Given the description of an element on the screen output the (x, y) to click on. 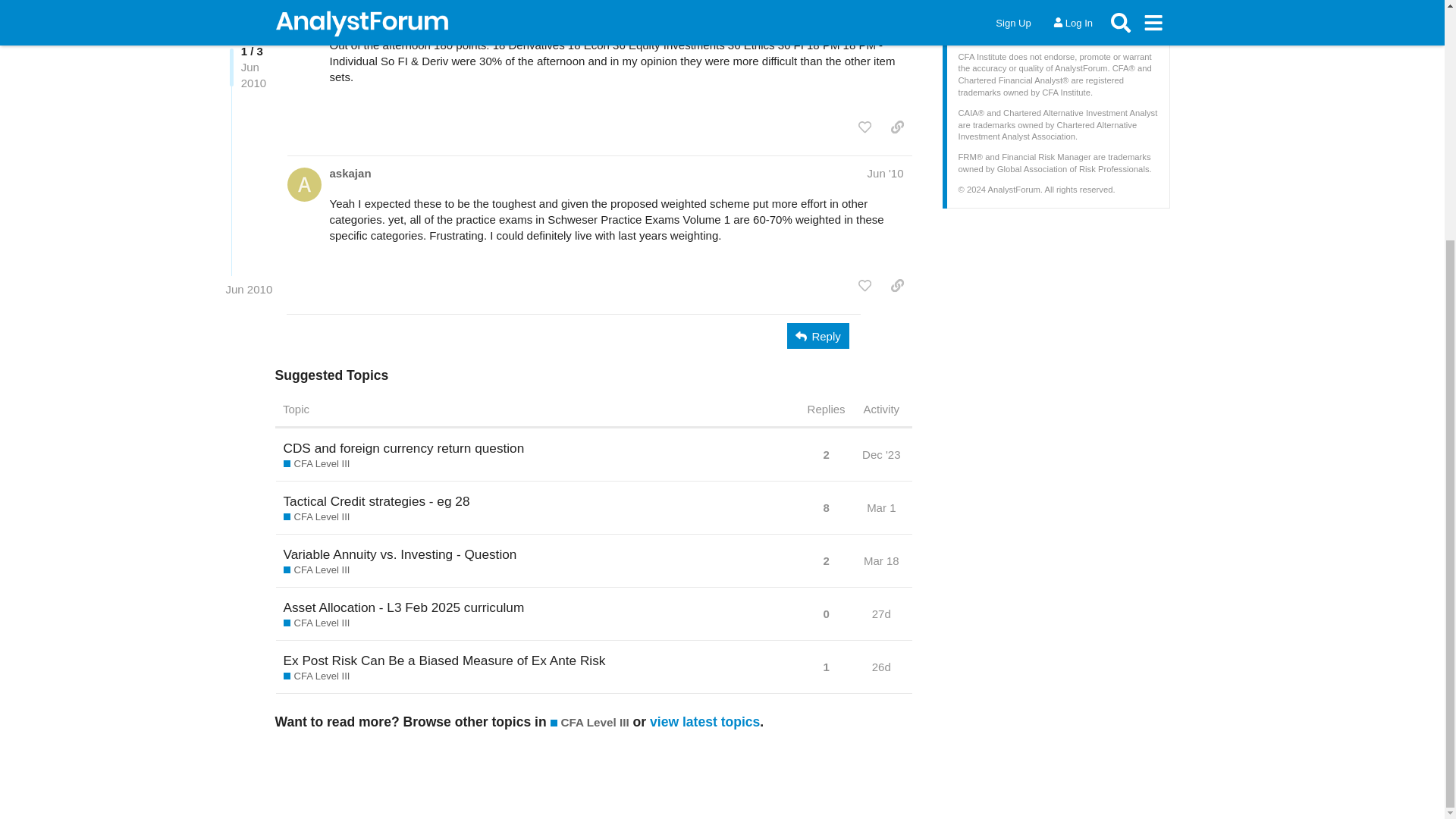
CFA Level III (316, 463)
Dec '23 (881, 454)
CDS and foreign currency return question (403, 447)
Jun 2010 (249, 54)
Jun '10 (885, 14)
askajan (350, 172)
Jun 2010 (249, 54)
Reply (817, 335)
Tactical Credit strategies - eg 28 (376, 501)
Jun '10 (885, 173)
